Given the description of an element on the screen output the (x, y) to click on. 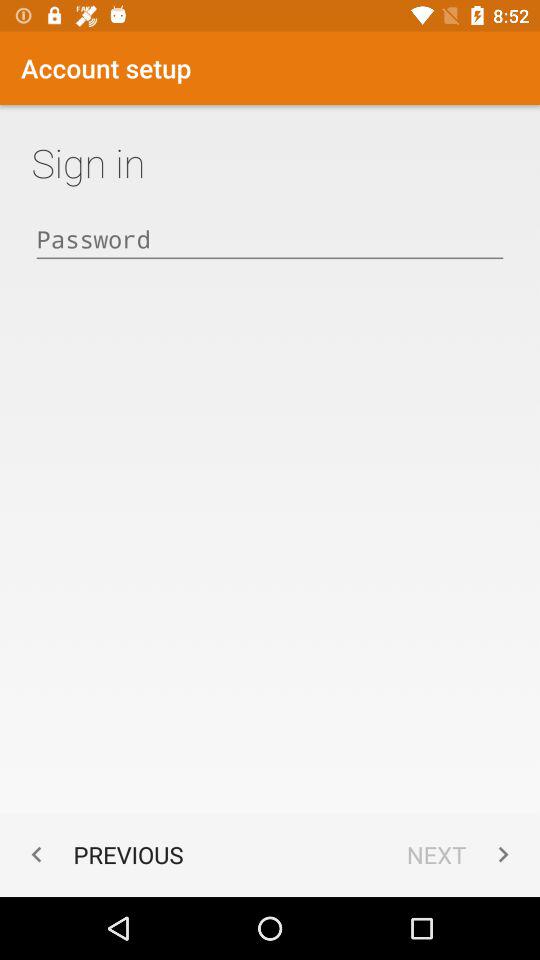
select next item (462, 854)
